Given the description of an element on the screen output the (x, y) to click on. 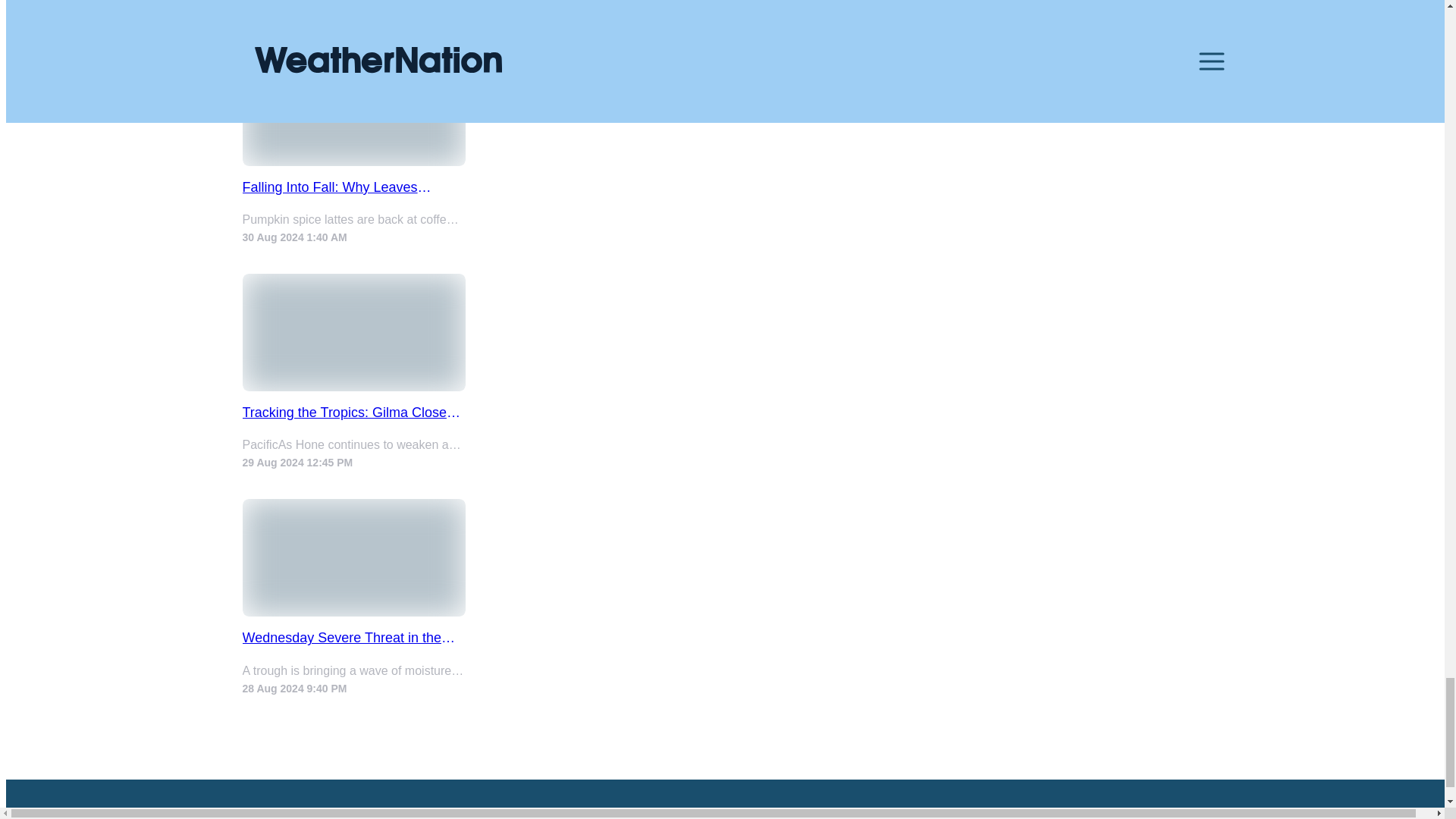
Falling Into Fall: Why Leaves Change Color (354, 187)
Cookies (1111, 813)
Privacy (1050, 813)
Terms (996, 813)
Wednesday Severe Threat in the Northern Plains (354, 637)
Sitemap (1173, 813)
